Given the description of an element on the screen output the (x, y) to click on. 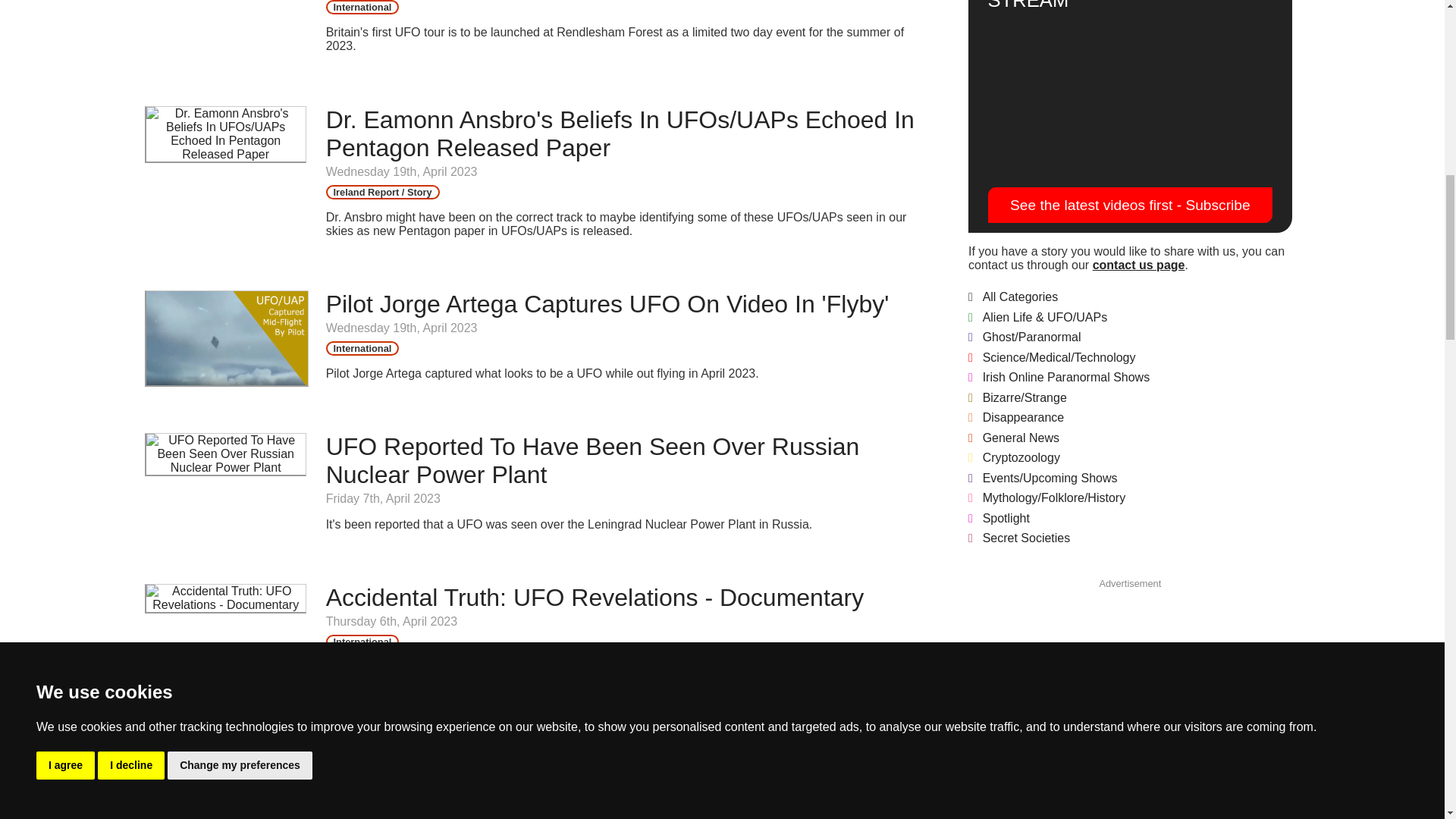
Pilot Jorge Artega Captures UFO On Video In 'Flyby' (607, 303)
Accidental Truth: UFO Revelations - Documentary (595, 596)
